Given the description of an element on the screen output the (x, y) to click on. 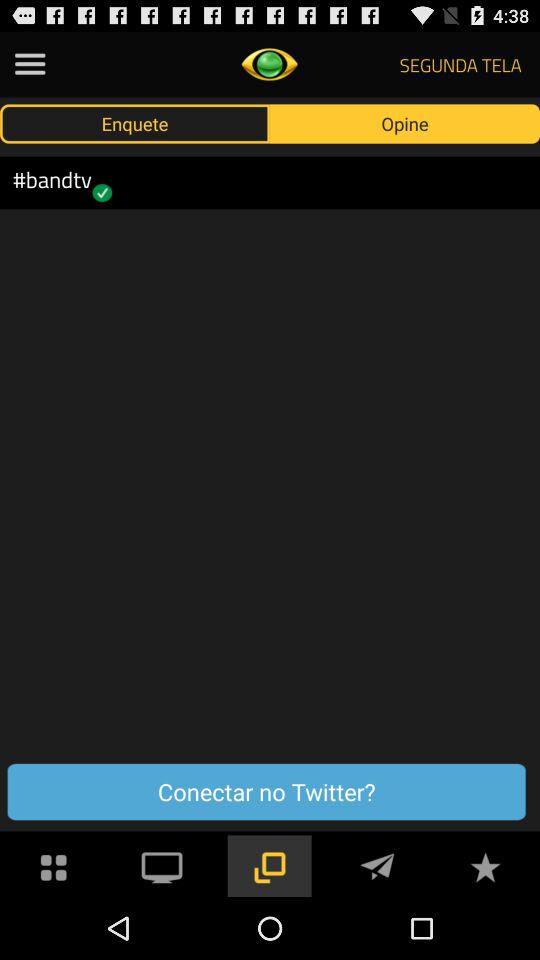
press the button above conectar no twitter? button (405, 123)
